Given the description of an element on the screen output the (x, y) to click on. 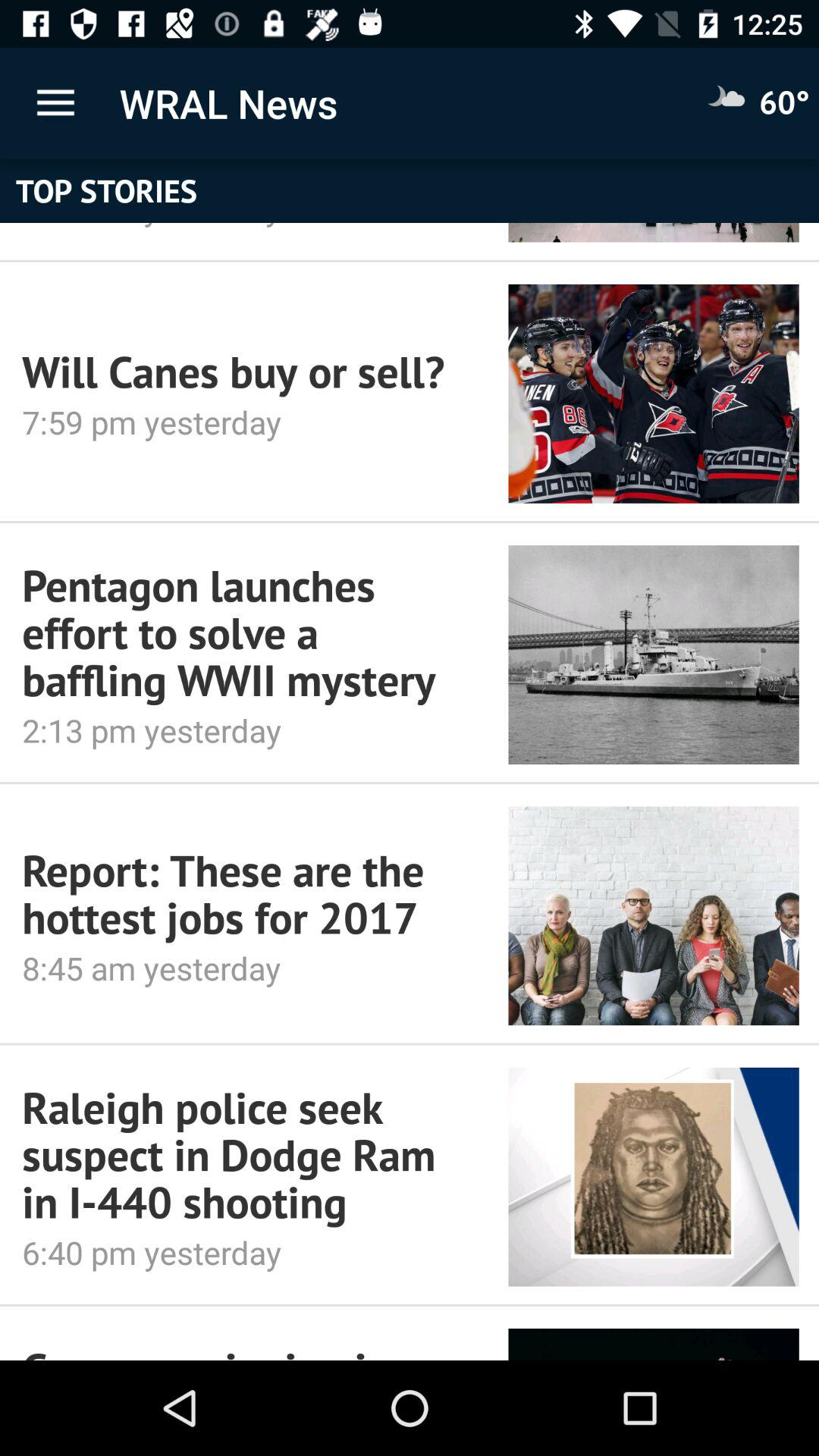
open the item to the right of the pentagon launches effort (653, 654)
